Given the description of an element on the screen output the (x, y) to click on. 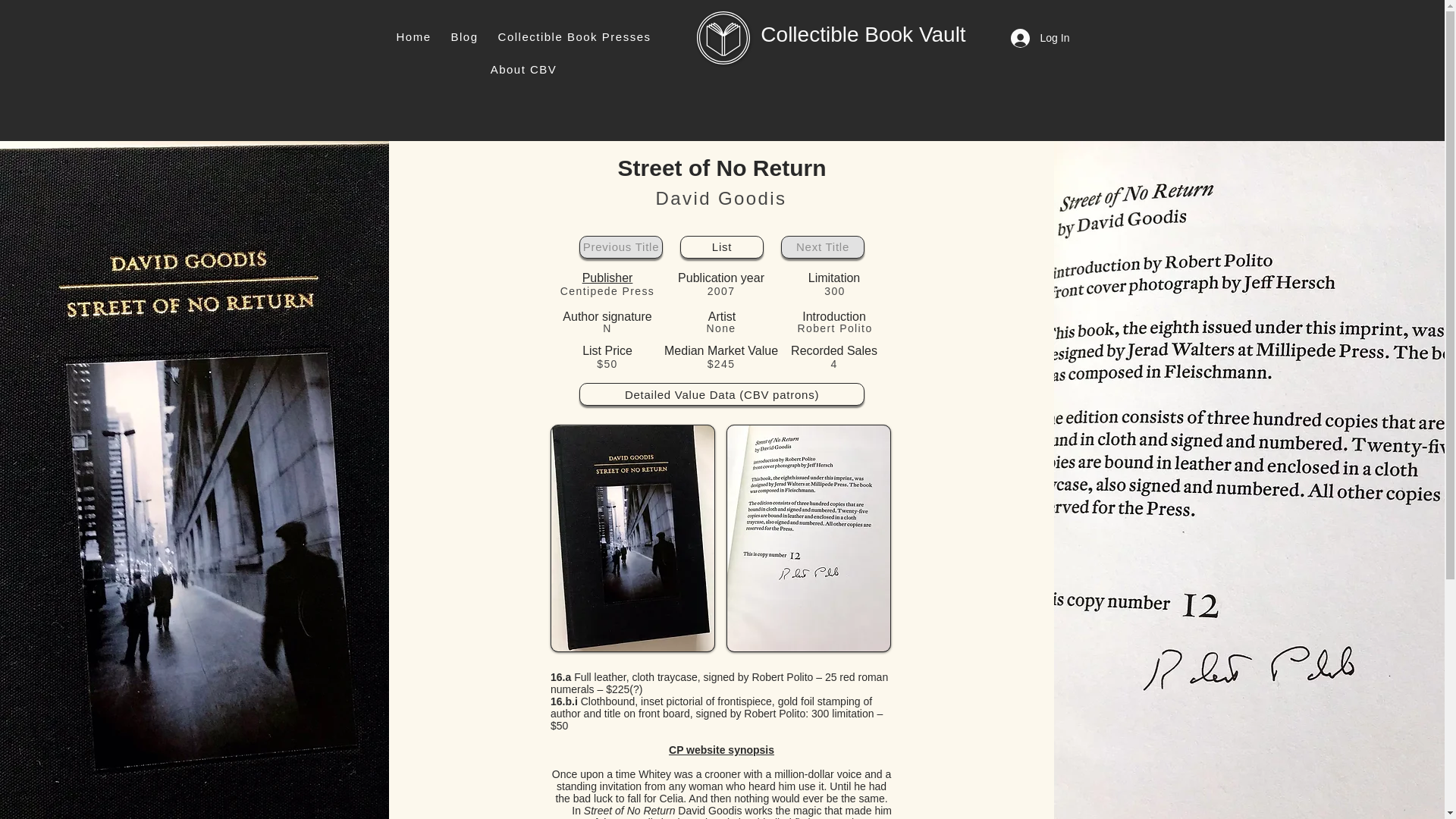
About CBV (523, 69)
List (720, 246)
Collectible Book Presses (574, 36)
Publisher (607, 277)
Home (413, 36)
Blog (465, 36)
Previous Title (620, 246)
Street of No Return (808, 538)
Street of No Return (632, 538)
CP website synopsis (721, 749)
Log In (1029, 38)
Next Title (822, 246)
